Given the description of an element on the screen output the (x, y) to click on. 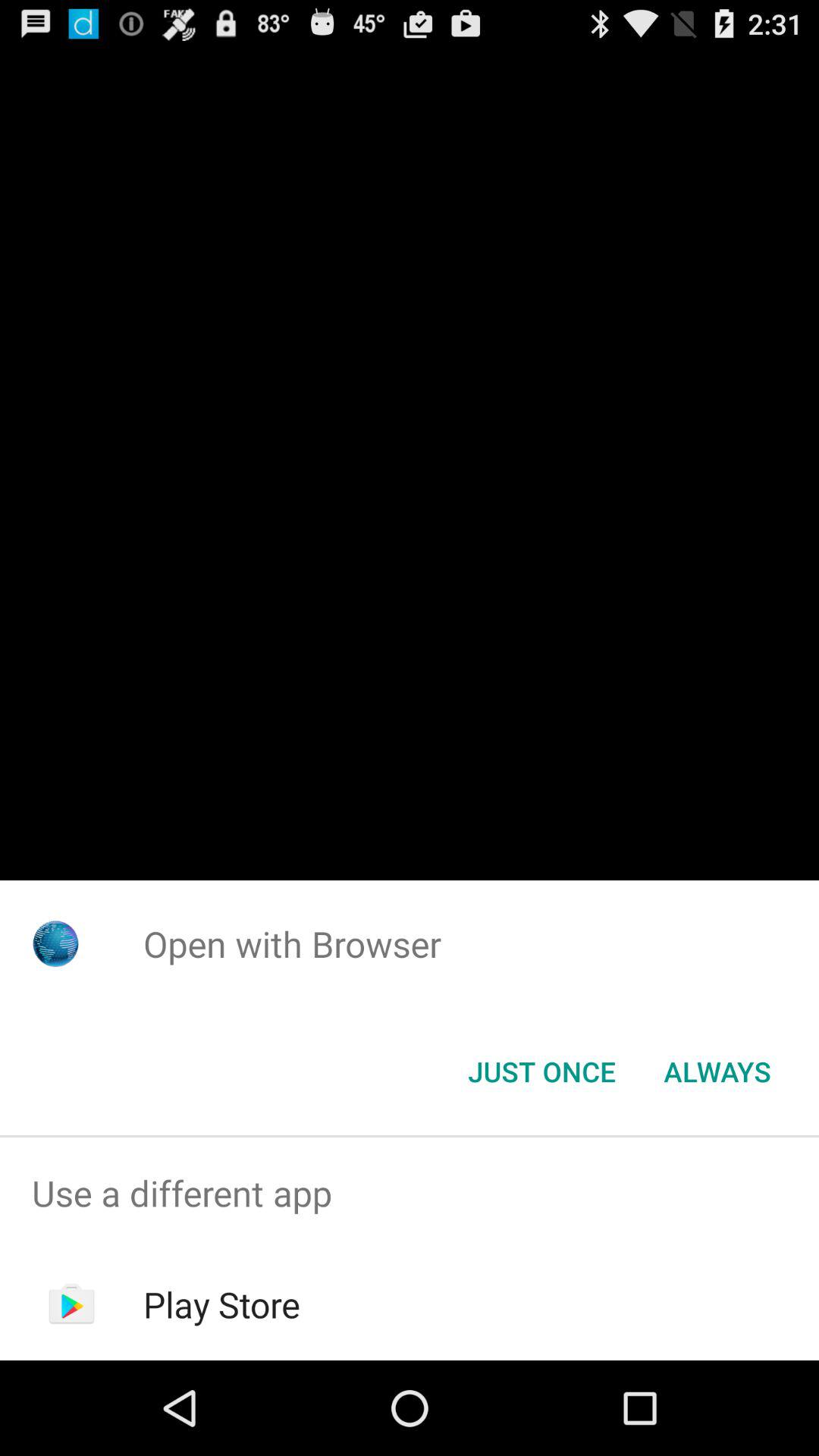
open the just once button (541, 1071)
